Given the description of an element on the screen output the (x, y) to click on. 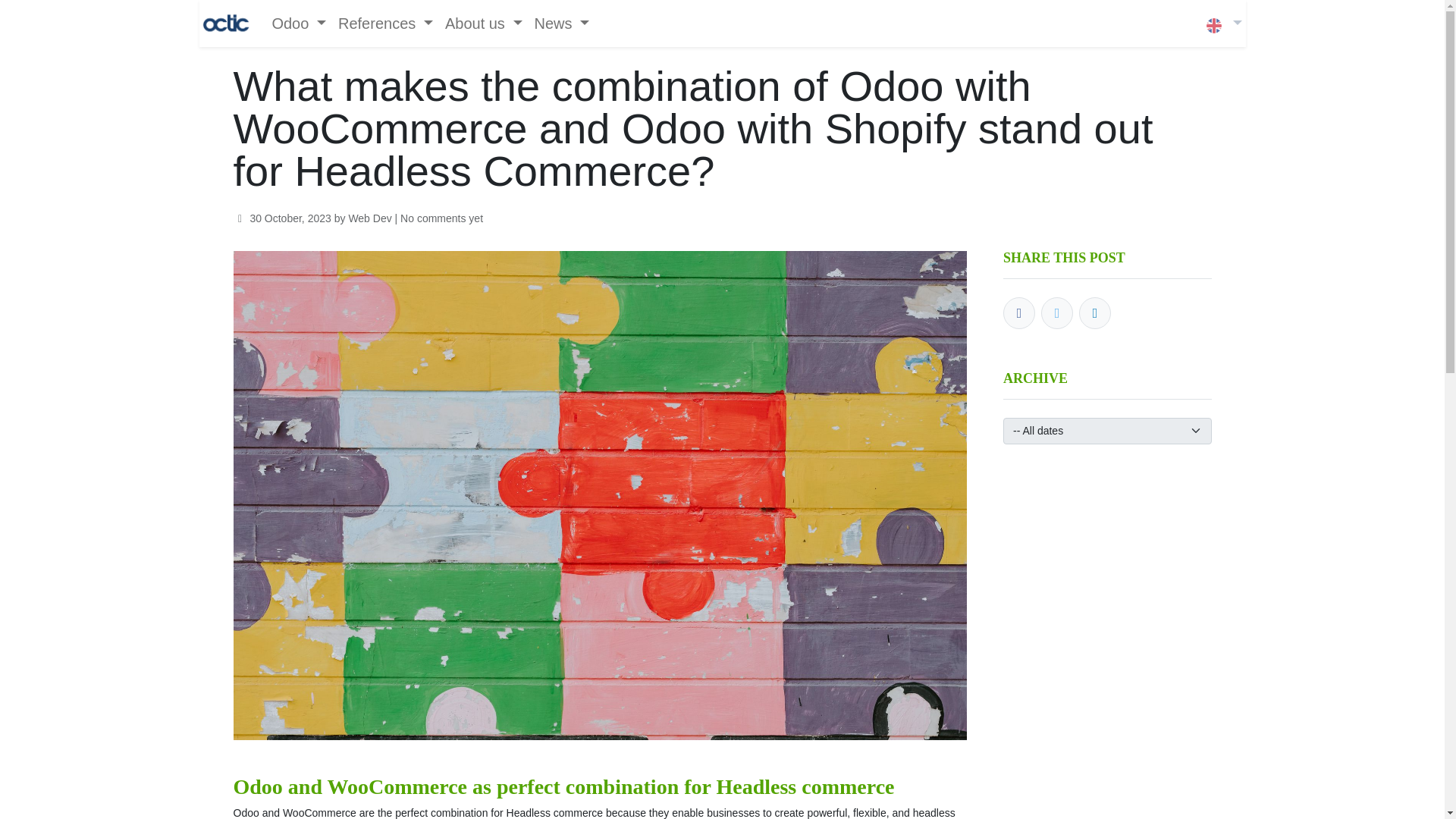
Share on Twitter (1057, 313)
News (561, 22)
Share on LinkedIn (1094, 313)
Odoo (297, 22)
Share on Facebook (1019, 313)
References (385, 22)
About us (483, 22)
OCTIC - IT Consulting Ltd (225, 22)
